Given the description of an element on the screen output the (x, y) to click on. 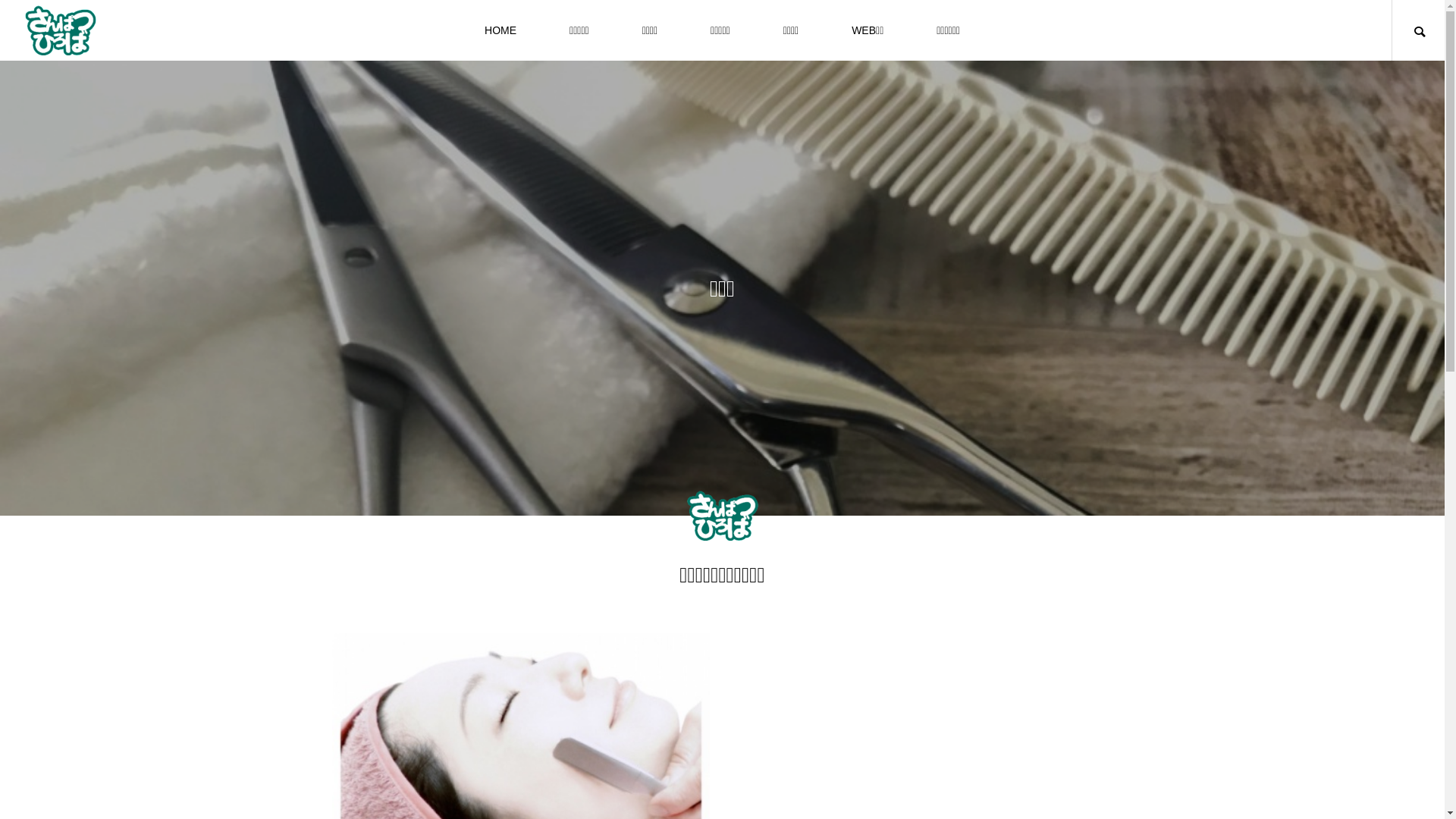
HOME Element type: text (500, 30)
